Given the description of an element on the screen output the (x, y) to click on. 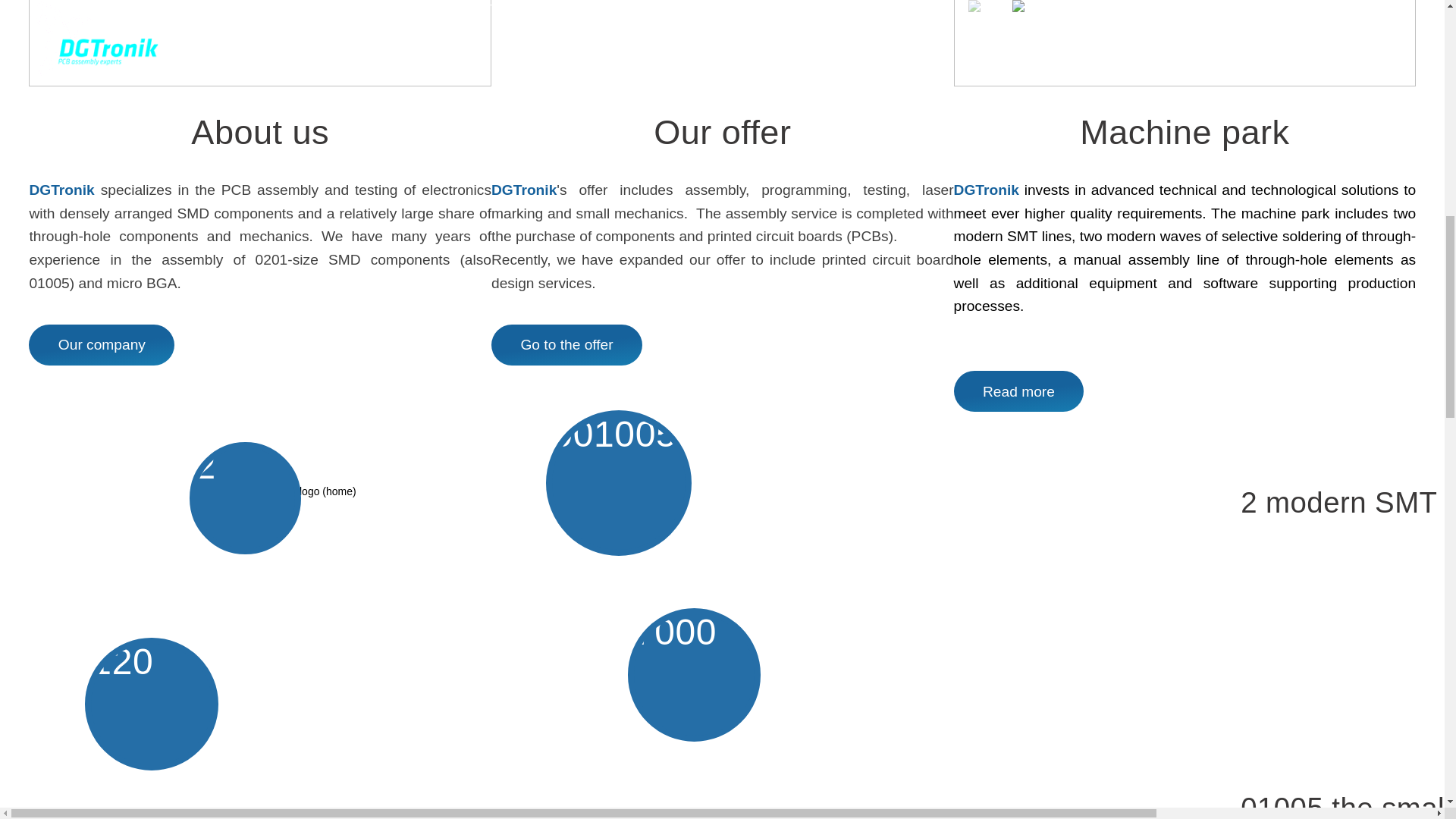
Our company (101, 344)
Offer (567, 344)
About us (101, 344)
Read more (1018, 391)
Go to the offer (567, 344)
Machine park (1018, 391)
